Given the description of an element on the screen output the (x, y) to click on. 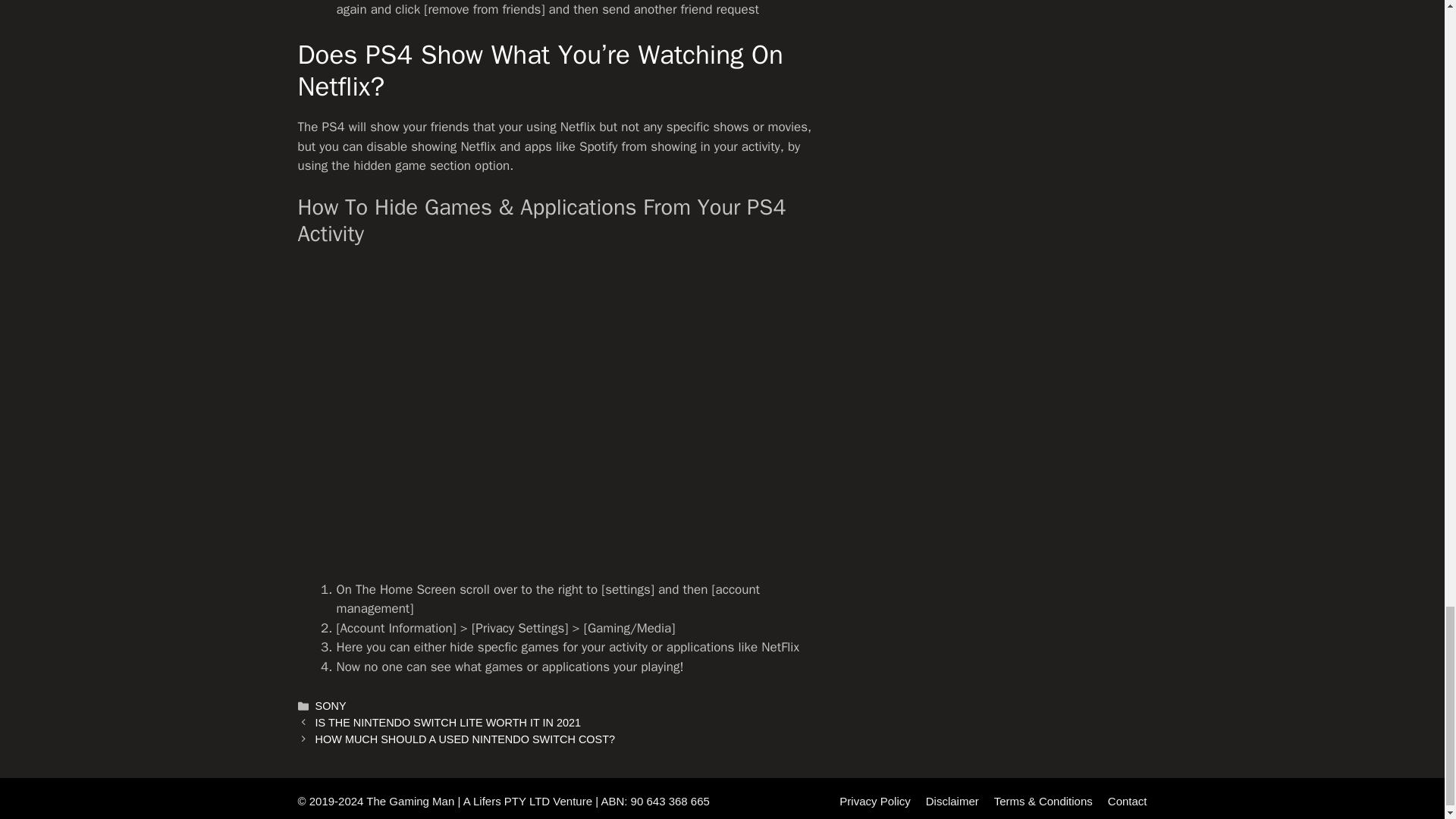
SONY (330, 705)
IS THE NINTENDO SWITCH LITE WORTH IT IN 2021 (447, 722)
HOW MUCH SHOULD A USED NINTENDO SWITCH COST? (464, 739)
